Given the description of an element on the screen output the (x, y) to click on. 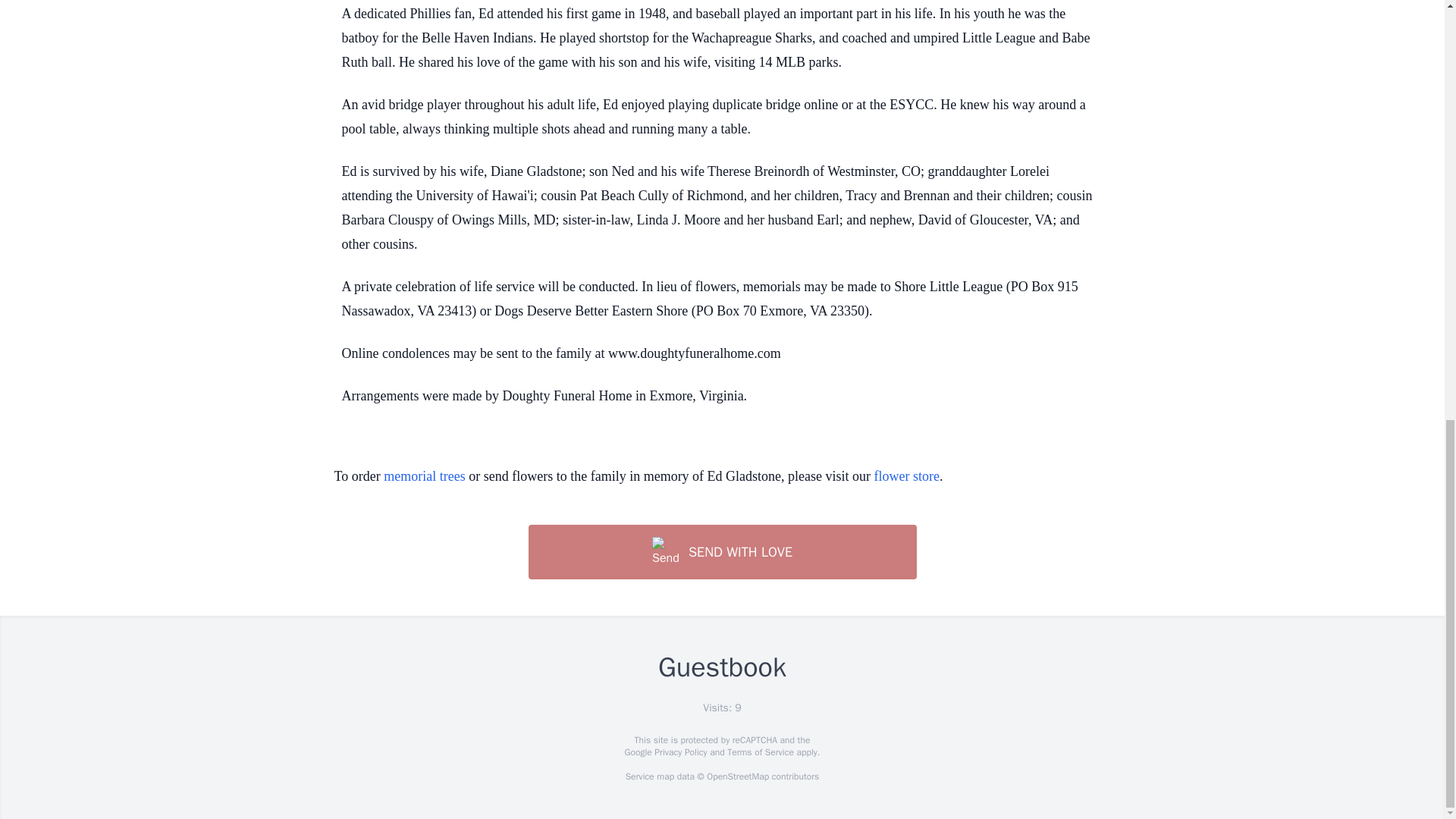
flower store (907, 476)
Terms of Service (759, 752)
OpenStreetMap (737, 776)
SEND WITH LOVE (721, 551)
memorial trees (424, 476)
Privacy Policy (679, 752)
